Given the description of an element on the screen output the (x, y) to click on. 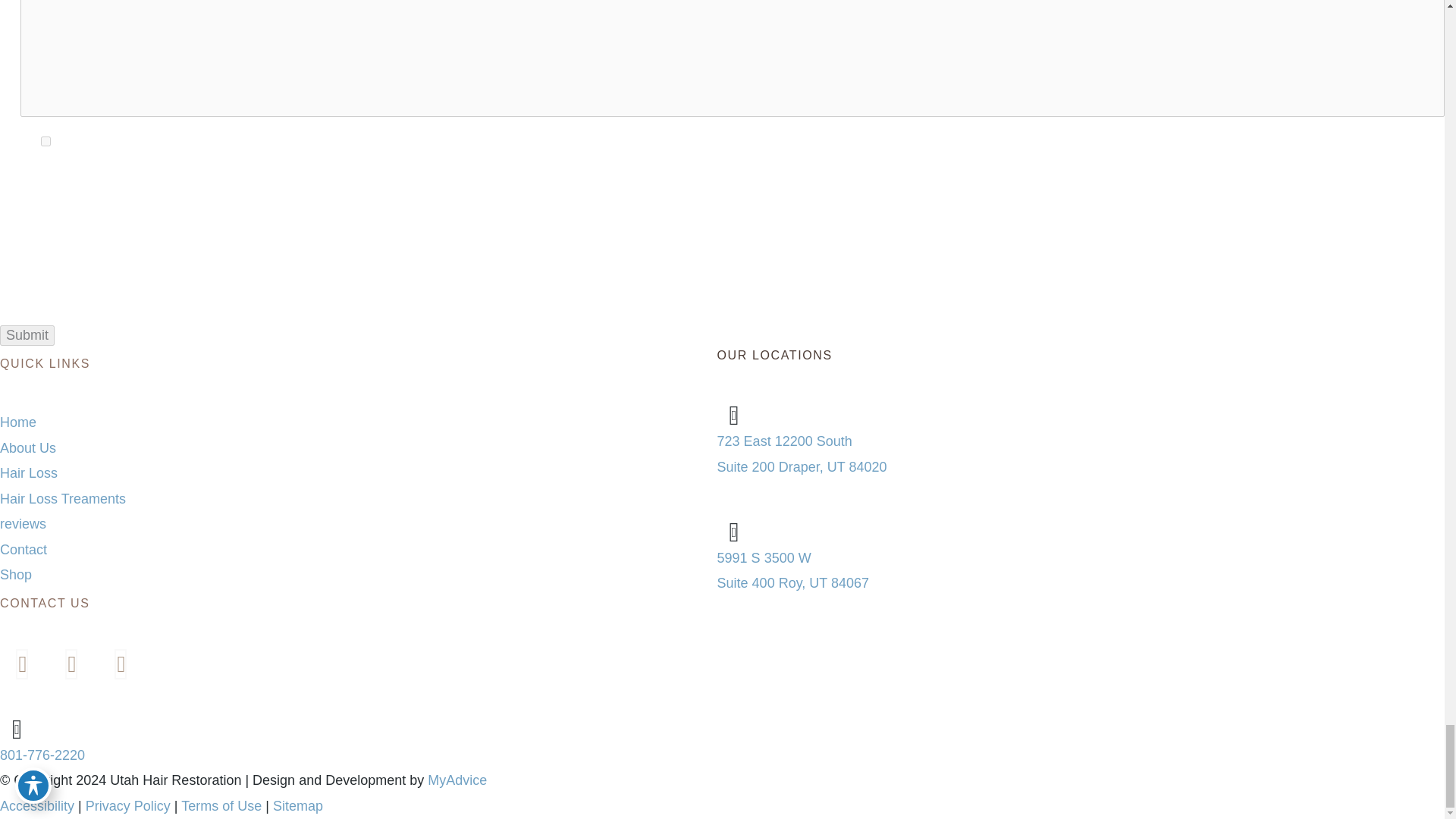
Submit (27, 335)
I agree (45, 141)
